Given the description of an element on the screen output the (x, y) to click on. 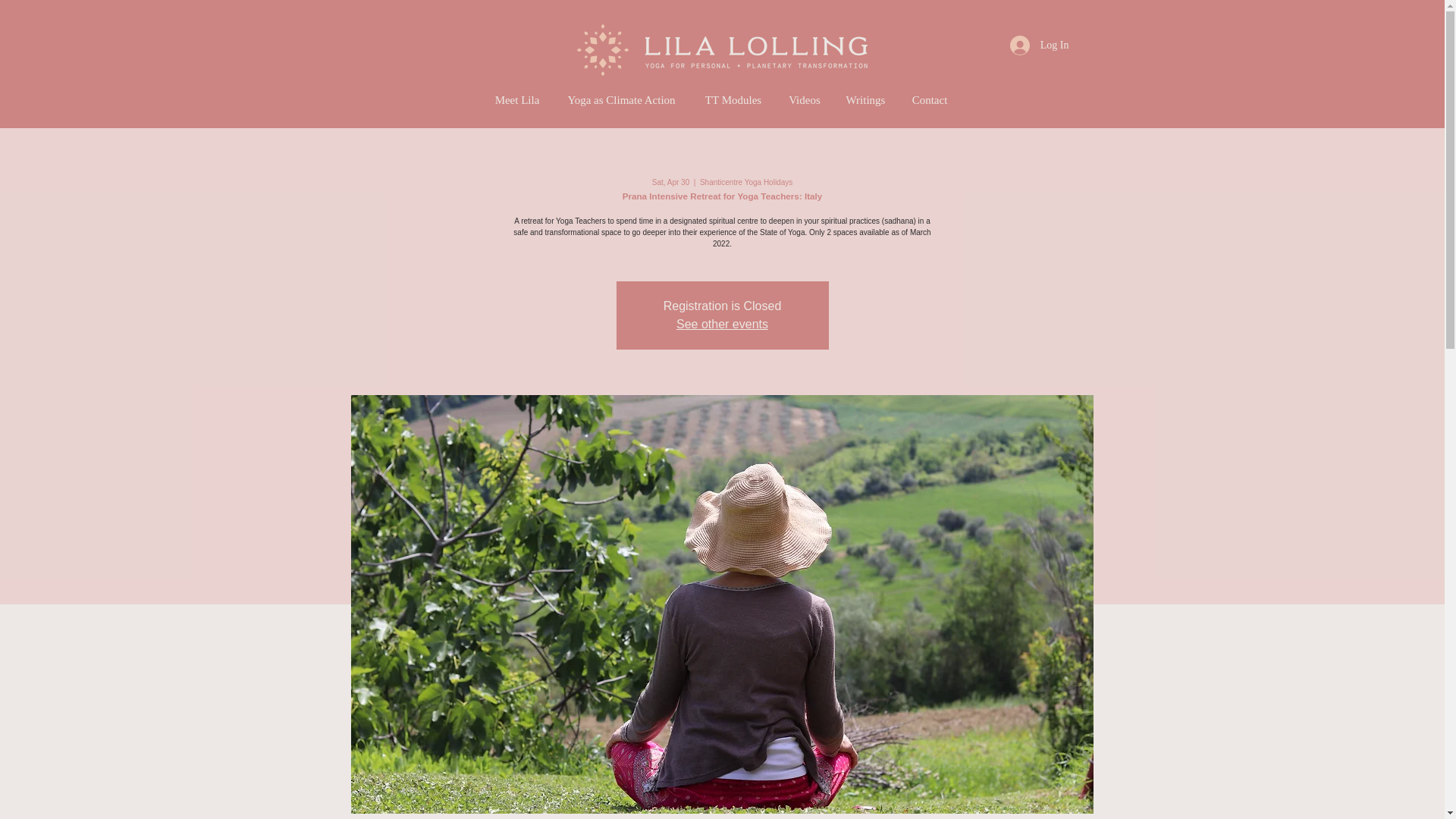
TT Modules (733, 100)
See other events (722, 323)
Meet Lila (516, 100)
Yoga as Climate Action (621, 100)
Videos (803, 100)
Log In (1039, 45)
Contact (930, 100)
